Given the description of an element on the screen output the (x, y) to click on. 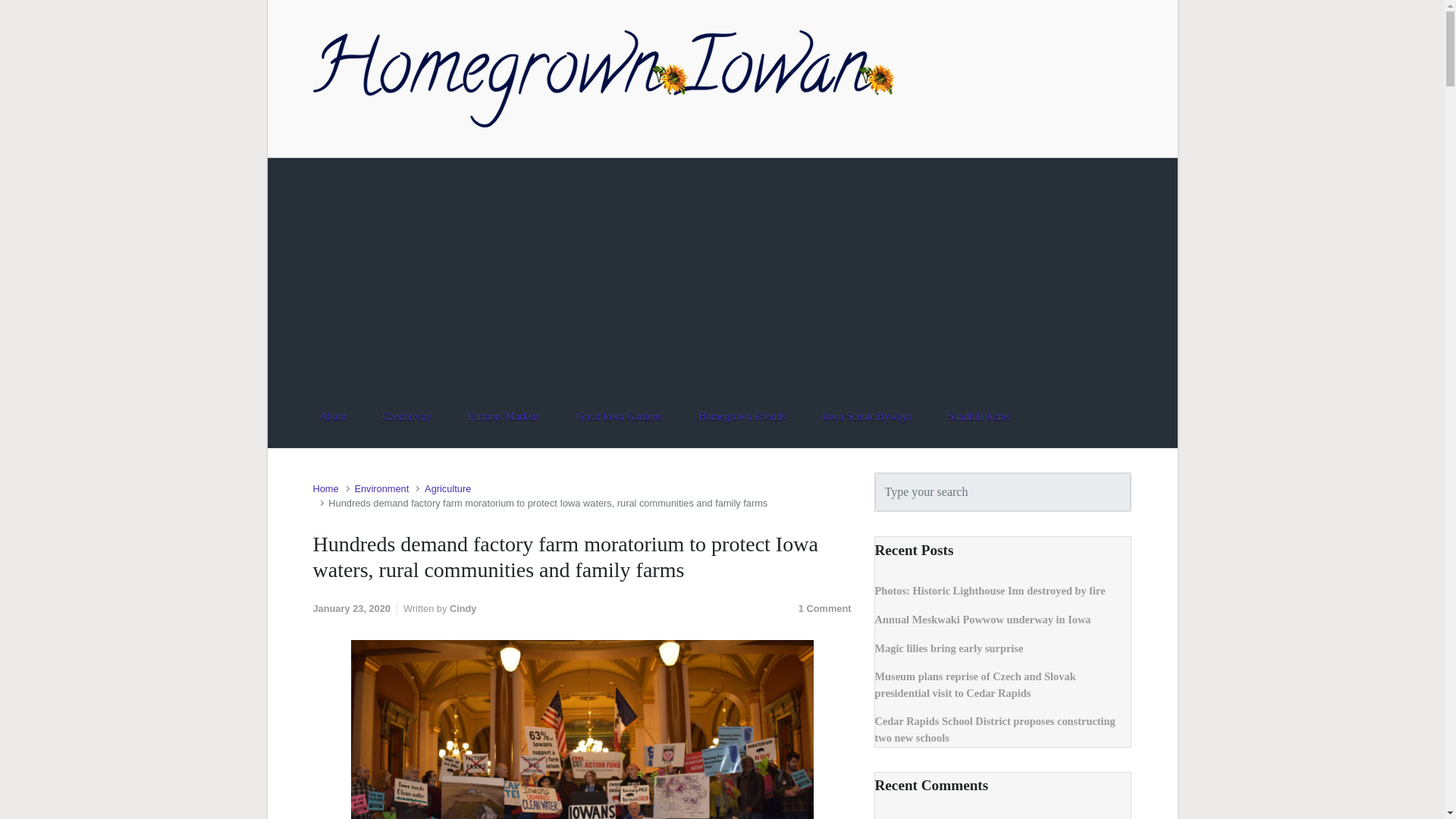
Environment (381, 488)
Great Iowa Gardens (619, 416)
Sandhill Acres (979, 416)
Homegrown Friends (741, 416)
Farmers Markets (503, 416)
View all posts by Cindy (463, 608)
About (332, 416)
Czechtivity (406, 416)
Cindy (463, 608)
